Given the description of an element on the screen output the (x, y) to click on. 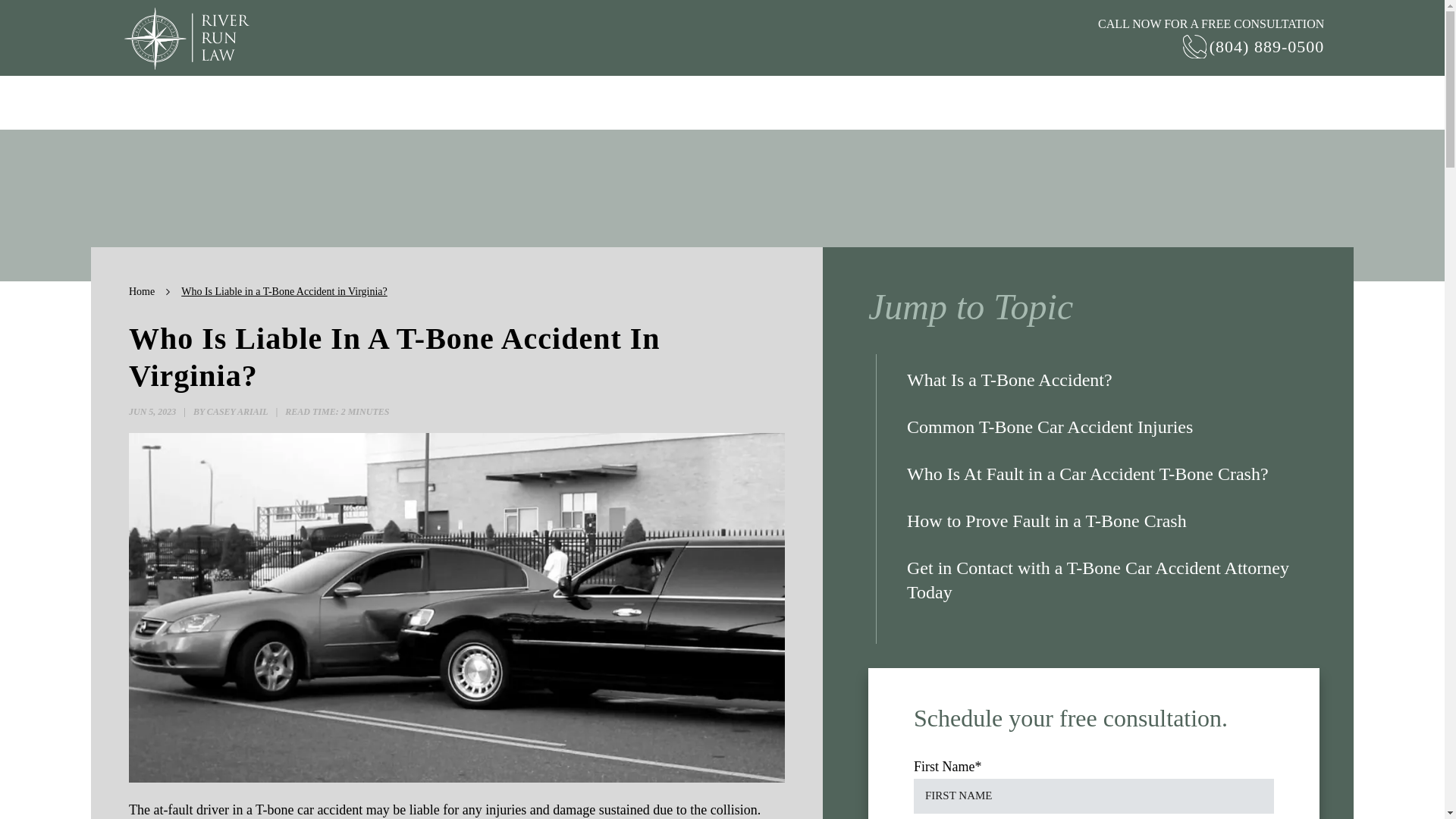
Home (141, 291)
